Given the description of an element on the screen output the (x, y) to click on. 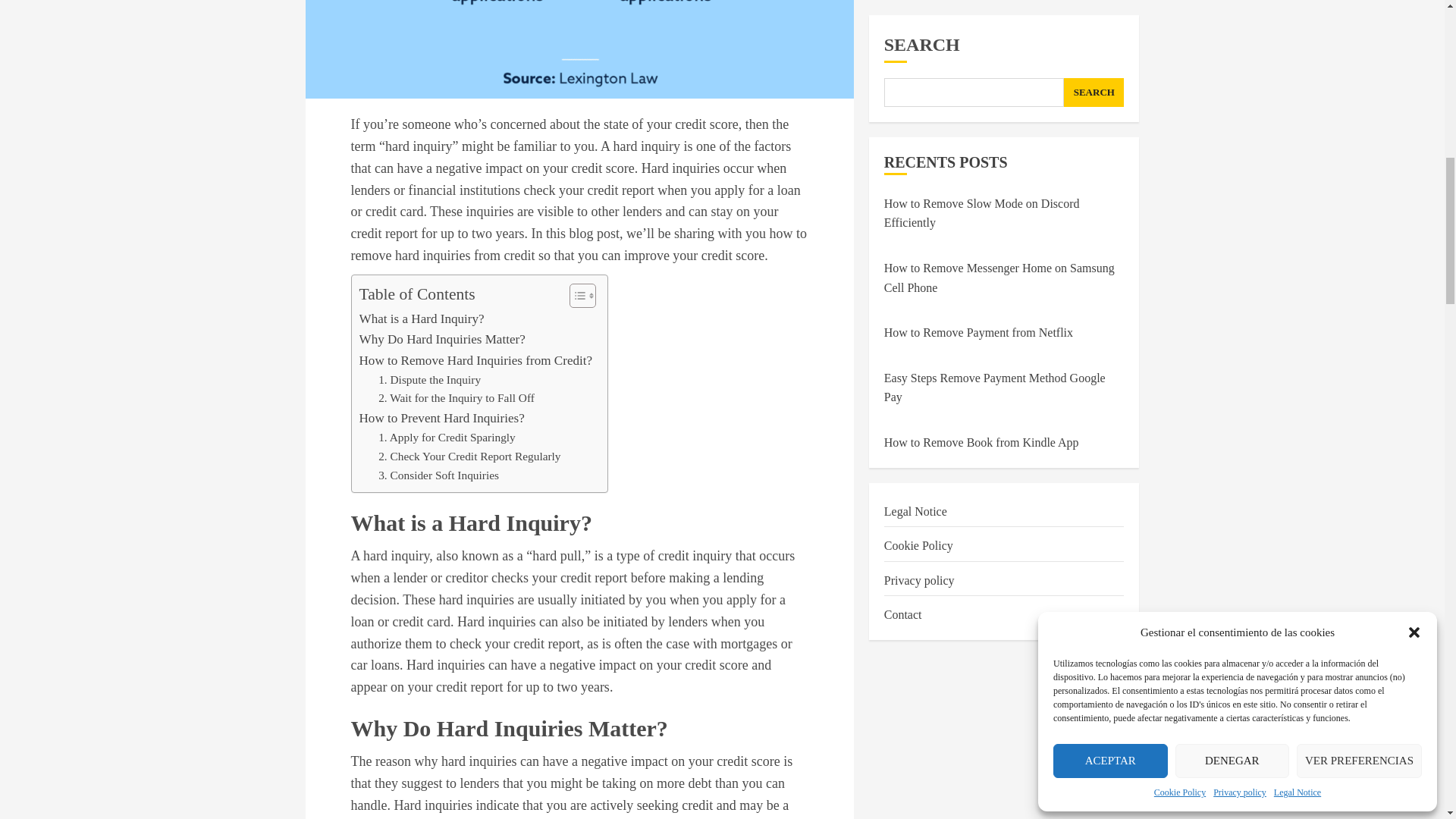
How to Remove Hard Inquiries from Credit? (475, 360)
1. Apply for Credit Sparingly (446, 437)
1. Dispute the Inquiry (429, 380)
3. Consider Soft Inquiries (438, 475)
2. Check Your Credit Report Regularly (469, 456)
2. Wait for the Inquiry to Fall Off (456, 398)
What is a Hard Inquiry? (421, 318)
Why Do Hard Inquiries Matter? (442, 339)
How to Prevent Hard Inquiries? (441, 417)
